Given the description of an element on the screen output the (x, y) to click on. 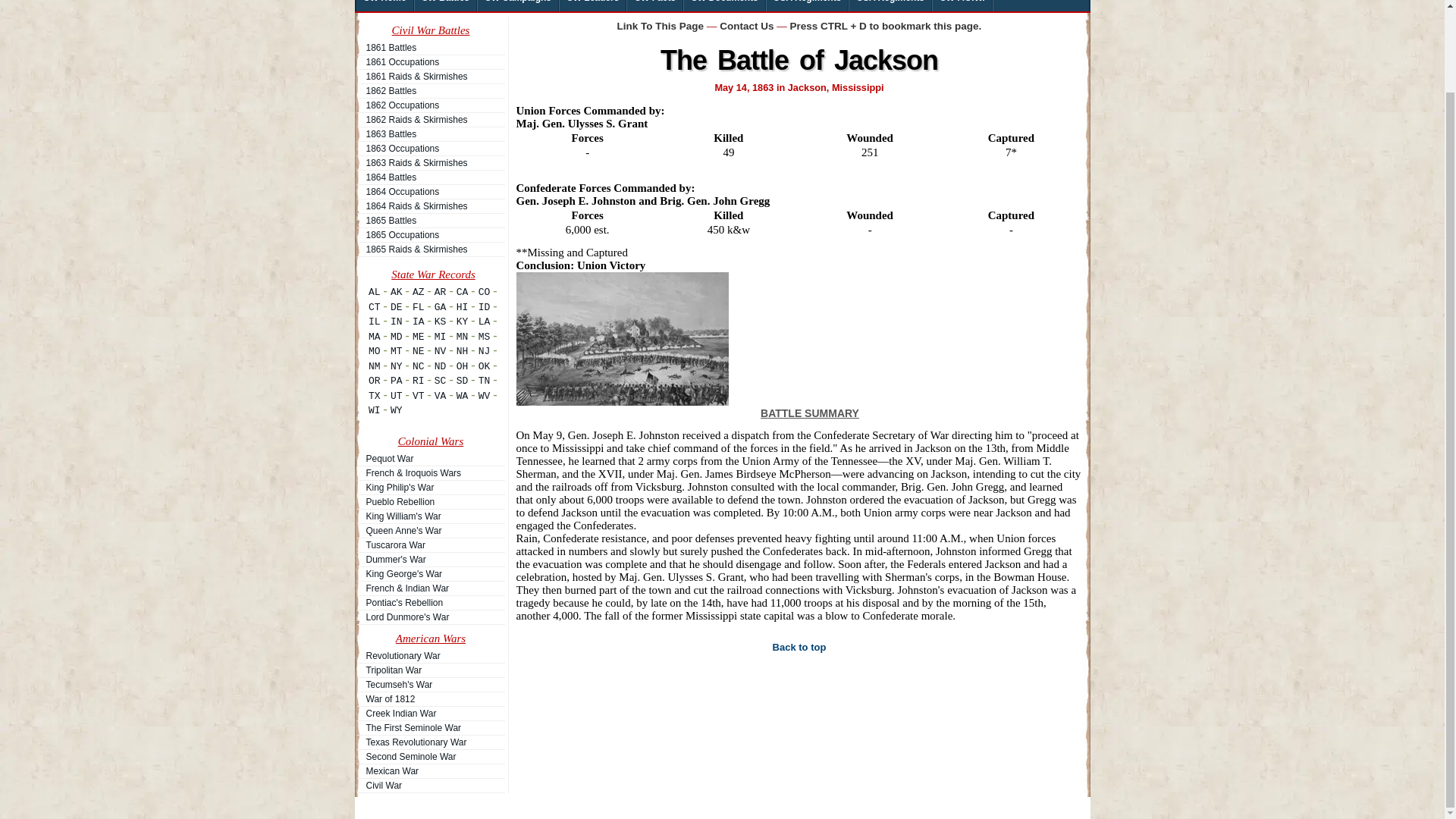
1862 Battles (429, 90)
Dummer's War (429, 559)
Pequot War (429, 459)
CW P.O.W. (962, 5)
1865 Battles (429, 220)
King Philip's War (429, 487)
King George's War (429, 573)
CW Campaigns (518, 5)
Pontiac's Rebellion (429, 602)
1862 Occupations (429, 105)
Revolutionary War (429, 655)
CW Documents (724, 5)
Lord Dunmore's War (429, 617)
Tripolitan War (429, 670)
1861 Battles (429, 47)
